Given the description of an element on the screen output the (x, y) to click on. 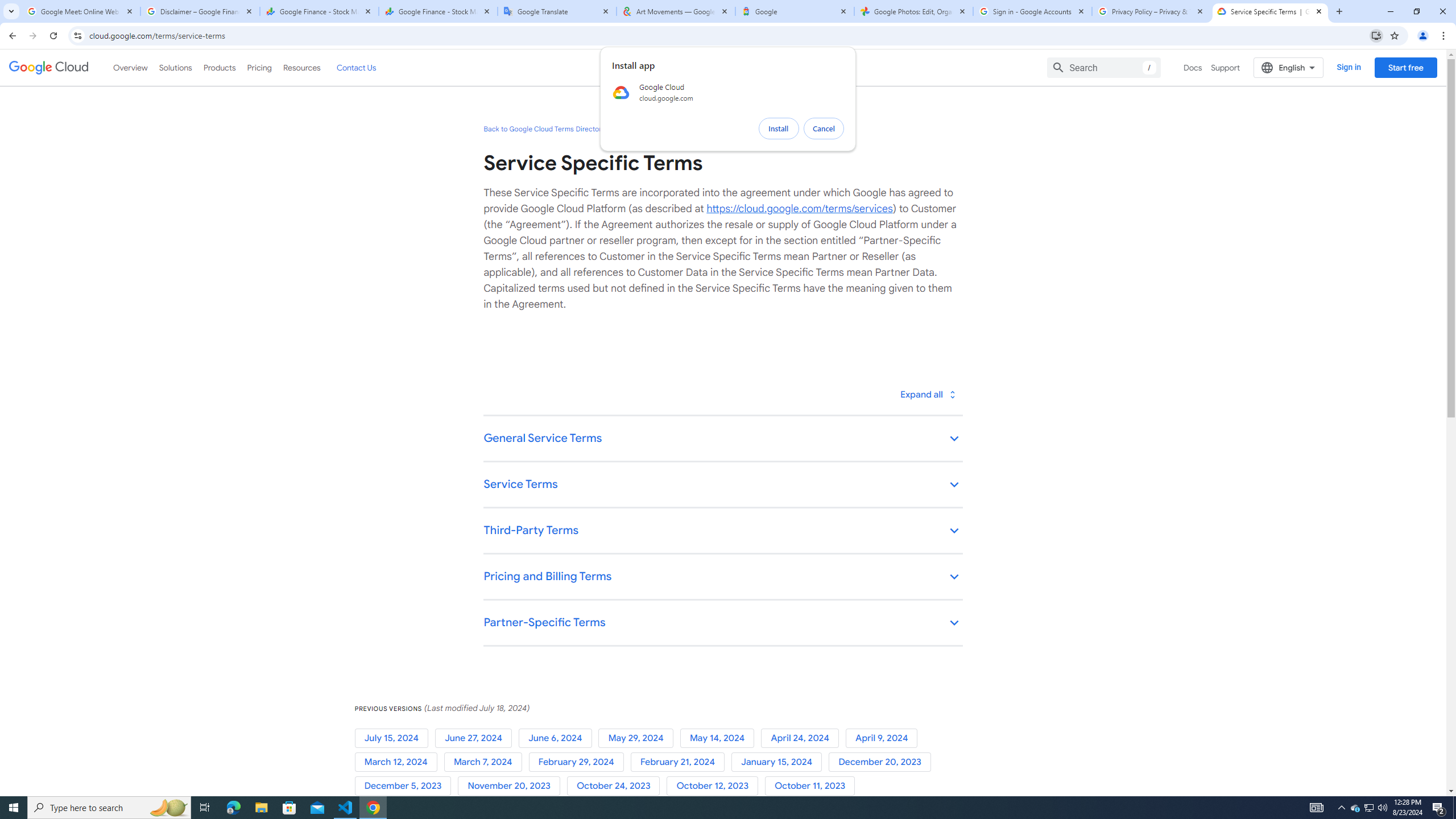
Search (1103, 67)
Overview (130, 67)
March 7, 2024 (486, 761)
October 12, 2023 (715, 786)
Partner-Specific Terms keyboard_arrow_down (722, 623)
Install Google Cloud (1376, 35)
English (1288, 67)
June 27, 2024 (475, 737)
March 12, 2024 (398, 761)
